Given the description of an element on the screen output the (x, y) to click on. 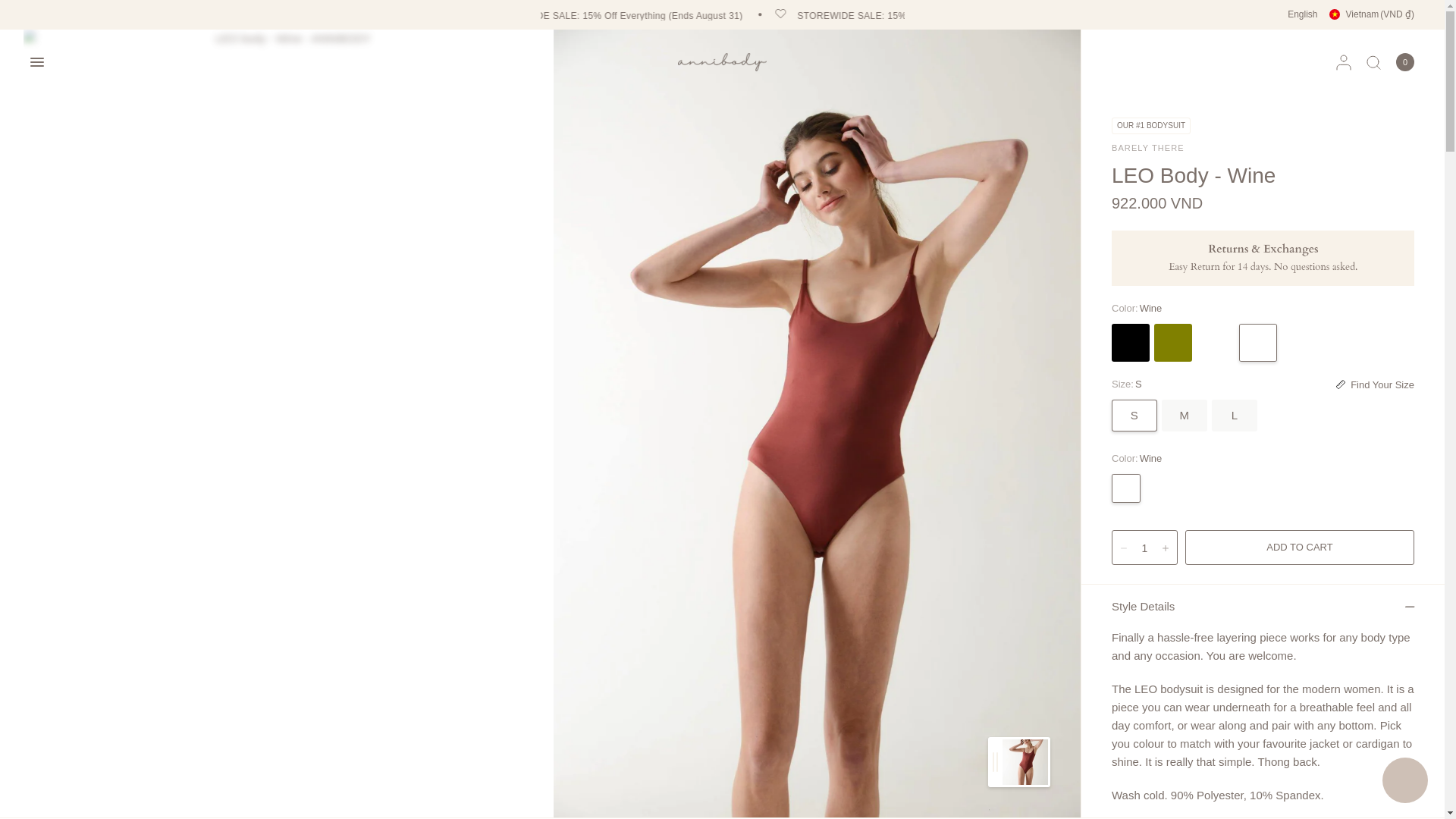
English (1302, 14)
